Given the description of an element on the screen output the (x, y) to click on. 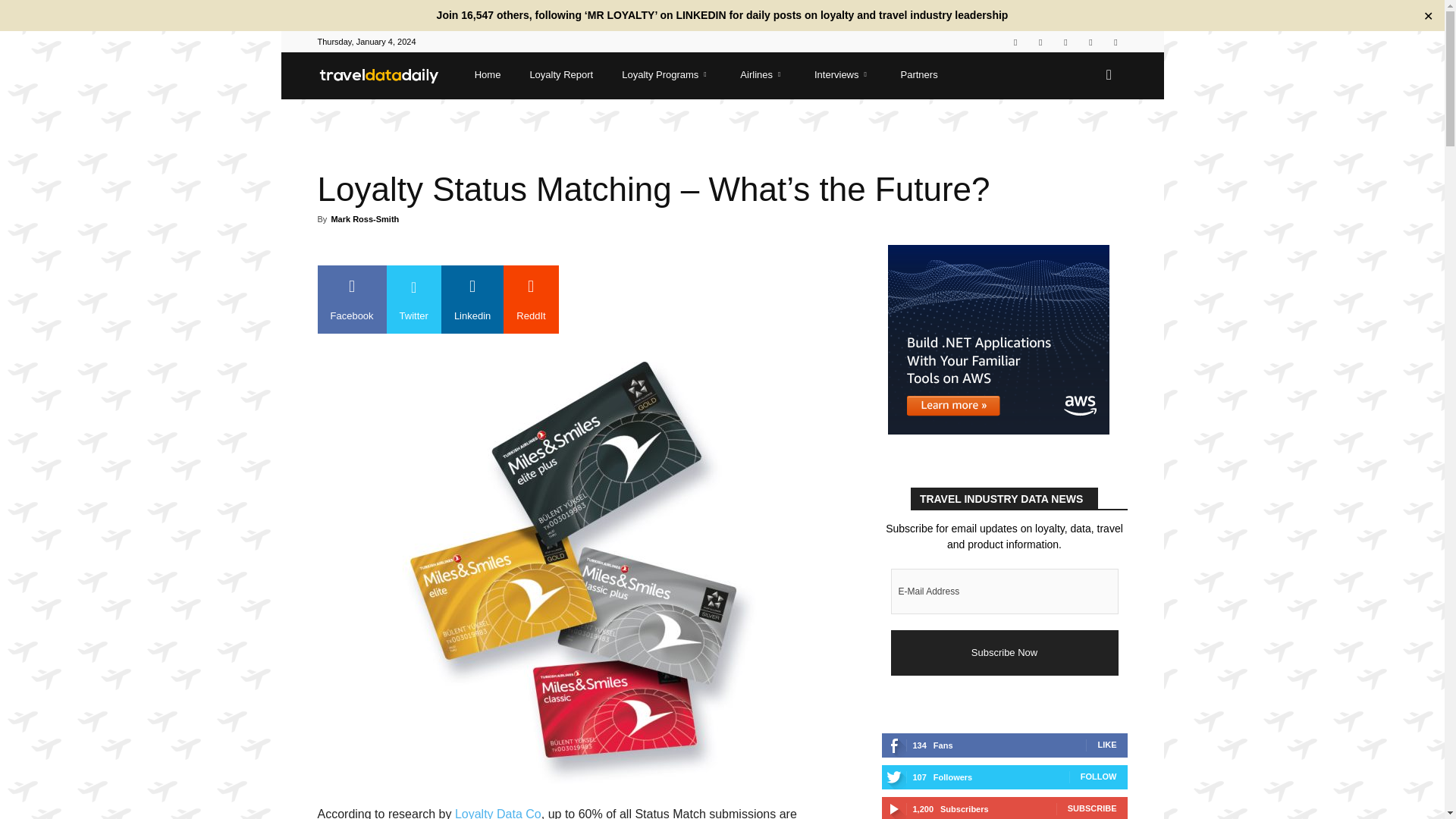
Subscribe Now (1003, 651)
RSS (1065, 41)
Linkedin (1040, 41)
Facebook (1015, 41)
Twitter (1090, 41)
Youtube (1114, 41)
Home (484, 75)
E-Mail Address (1003, 591)
Loyalty Programs (663, 75)
Loyalty Report (557, 75)
Travel Data Daily (386, 75)
Travel Data Daily (379, 75)
